Given the description of an element on the screen output the (x, y) to click on. 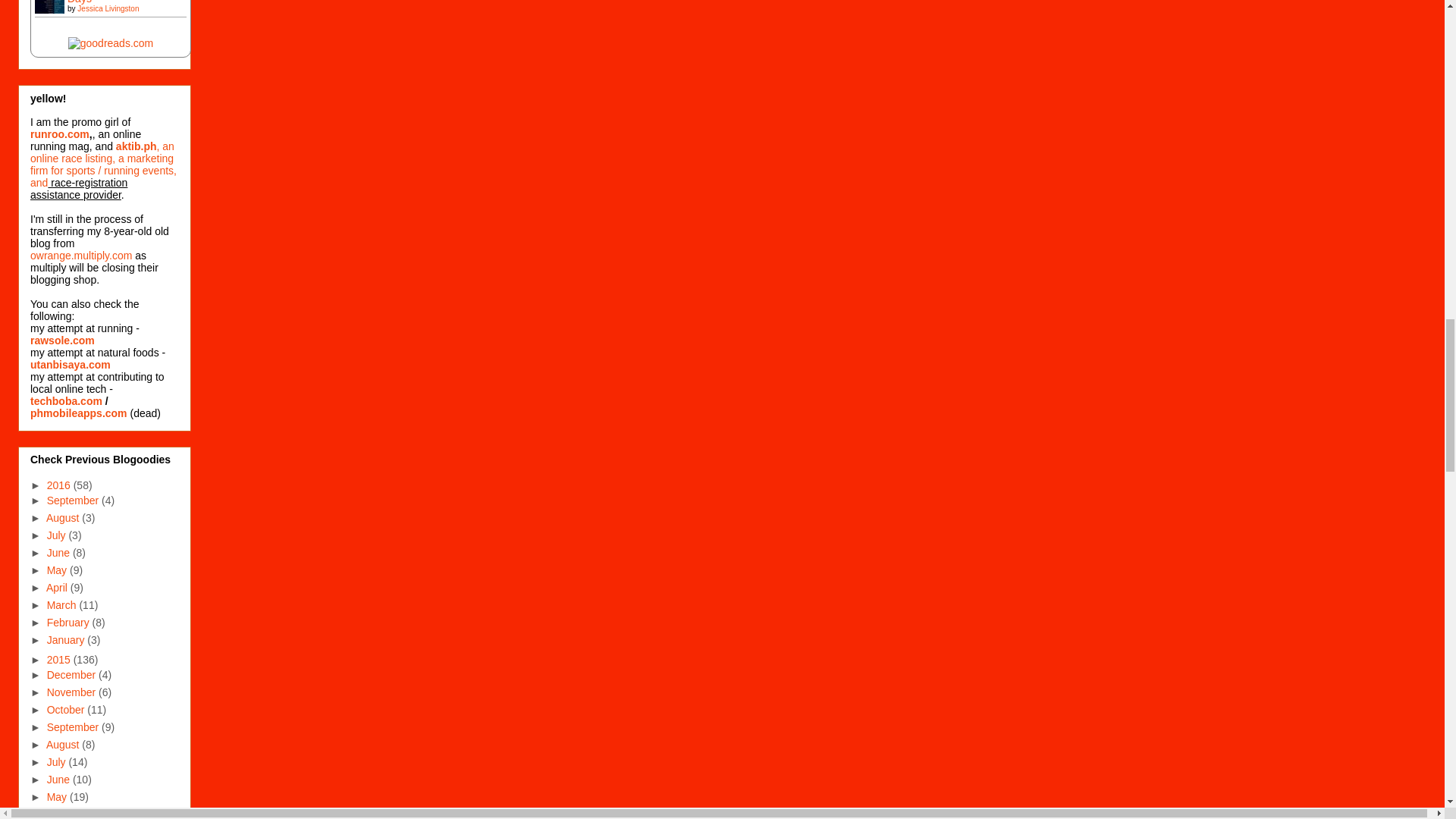
Founders at Work: Stories of Startups' Early Days (53, 21)
